Given the description of an element on the screen output the (x, y) to click on. 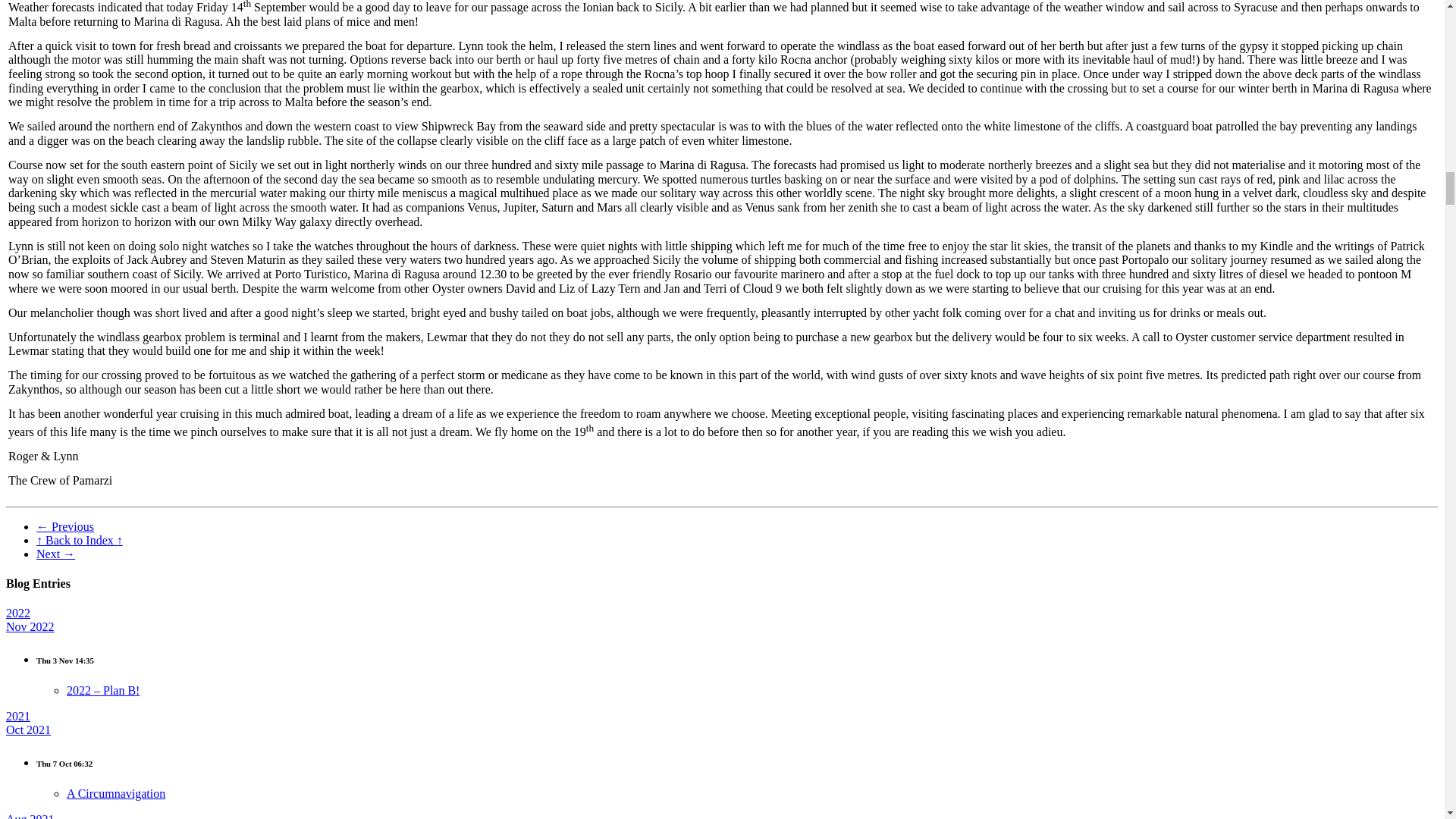
Aug 2021 (30, 816)
A Circumnavigation (115, 793)
2022 (17, 612)
Nov 2022 (30, 626)
2021 (17, 716)
Oct 2021 (27, 729)
